Given the description of an element on the screen output the (x, y) to click on. 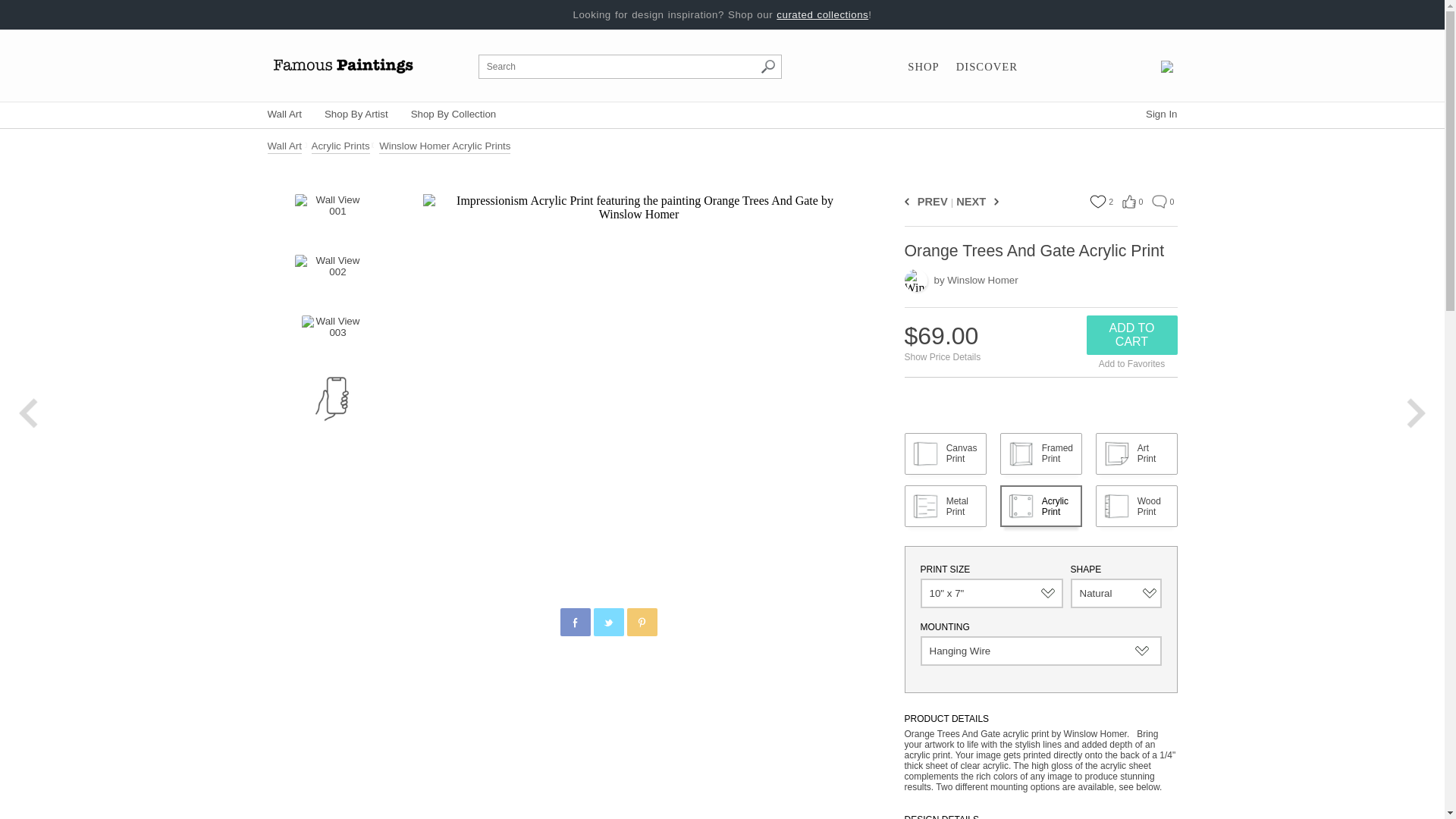
Comment (1158, 201)
Share Product on Facebook (574, 621)
Search (767, 66)
Wall View 001 (331, 216)
Launch Mobile App (331, 398)
SHOP (922, 66)
Famous Paintings (342, 65)
Share Product on Pinterest (641, 621)
DISCOVER (987, 66)
curated collections (821, 14)
Pinterest (642, 622)
Wall View 003 (331, 338)
Facebook (575, 622)
Twitter (609, 622)
Wall View 002 (331, 277)
